Given the description of an element on the screen output the (x, y) to click on. 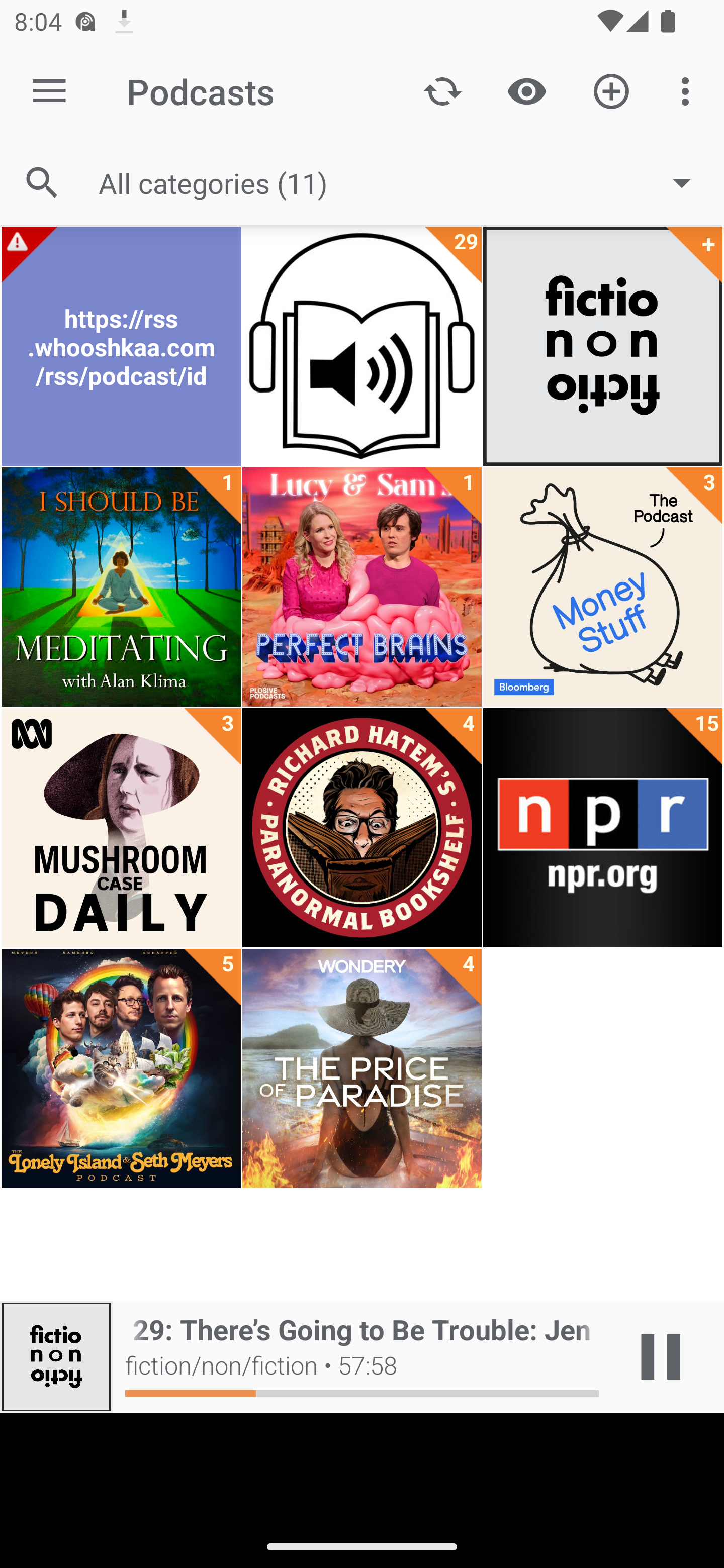
Open navigation sidebar (49, 91)
Update (442, 90)
Show / Hide played content (526, 90)
Add new Podcast (611, 90)
More options (688, 90)
Search (42, 183)
All categories (11) (404, 182)
https://rss.whooshkaa.com/rss/podcast/id/5884 (121, 346)
Audiobooks 29 (361, 346)
fiction/non/fiction + (602, 346)
Lucy & Sam's Perfect Brains 1 (361, 587)
Money Stuff: The Podcast 3 (602, 587)
Mushroom Case Daily 3 (121, 827)
Richard Hatem's Paranormal Bookshelf 4 (361, 827)
Stories from NPR : NPR 15 (602, 827)
The Lonely Island and Seth Meyers Podcast 5 (121, 1068)
The Price of Paradise 4 (361, 1068)
Play / Pause (660, 1356)
